Given the description of an element on the screen output the (x, y) to click on. 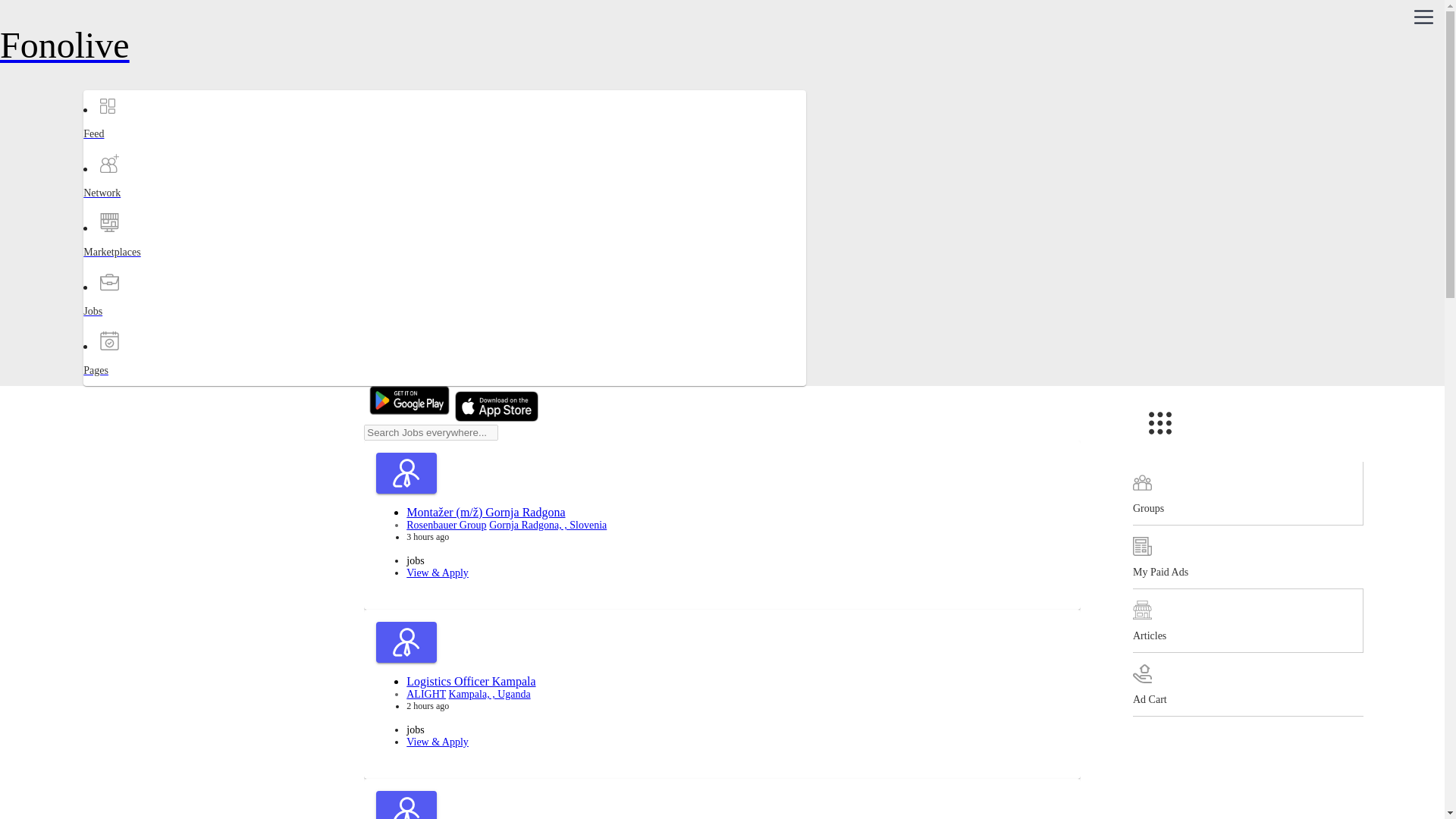
My Paid Ads (1247, 556)
Jobs (142, 325)
Logistics Officer Kampala (470, 680)
Articles (1247, 620)
Marketplaces (142, 265)
Gornja Radgona, , Slovenia (548, 524)
Kampala, , Uganda (489, 694)
Feed (142, 147)
Pages (142, 384)
Groups (1247, 493)
Rosenbauer Group (446, 524)
Ad Cart (1247, 684)
ALIGHT (425, 694)
Network (142, 206)
